Given the description of an element on the screen output the (x, y) to click on. 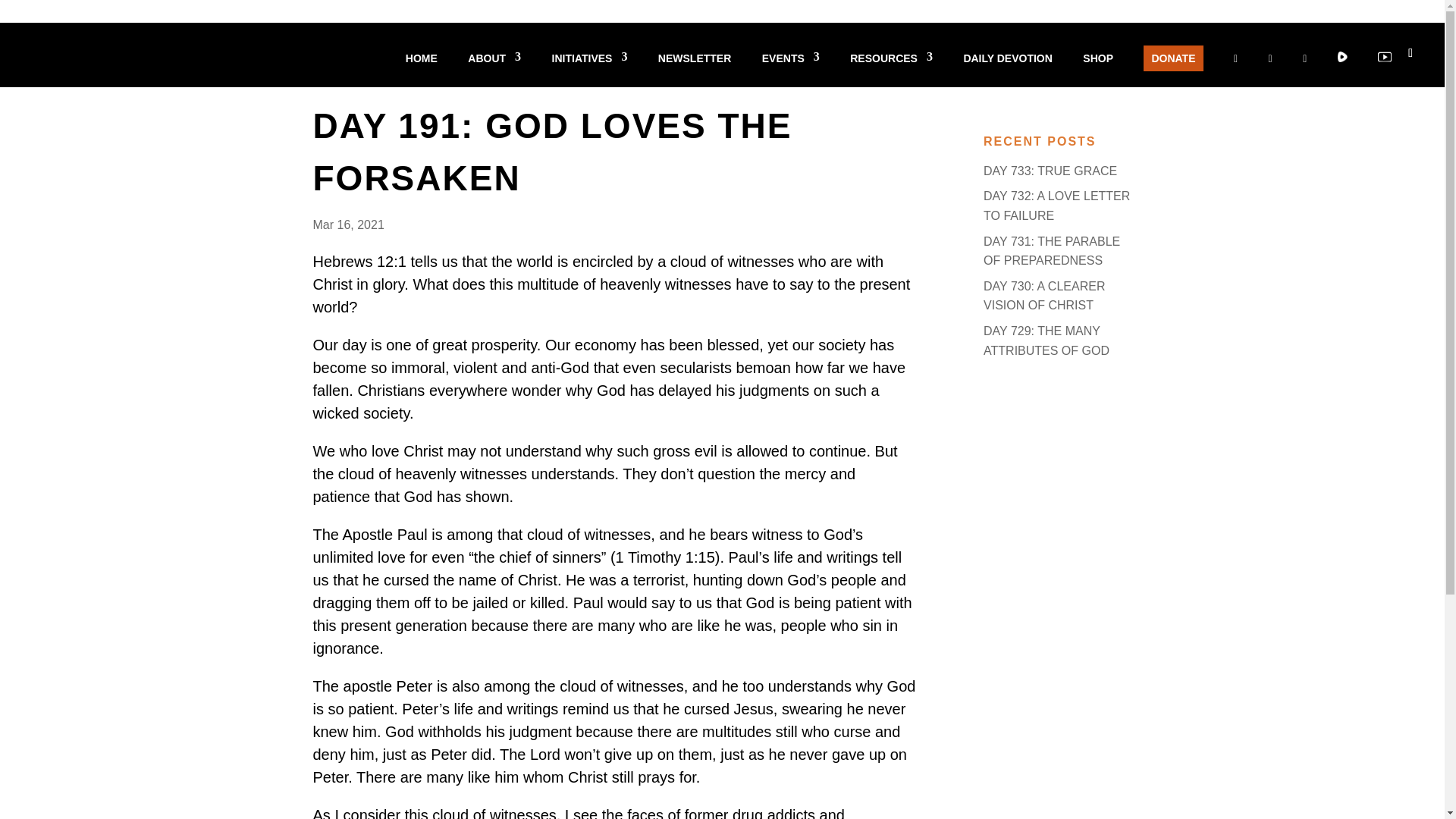
DAY 731: THE PARABLE OF PREPAREDNESS (1051, 251)
ABOUT (494, 69)
DONATE (1172, 58)
NEWSLETTER (694, 69)
EVENTS (790, 69)
SHOP (1098, 69)
HOME (422, 69)
DAY 730: A CLEARER VISION OF CHRIST (1044, 296)
DAY 733: TRUE GRACE (1050, 170)
INITIATIVES (589, 69)
